Given the description of an element on the screen output the (x, y) to click on. 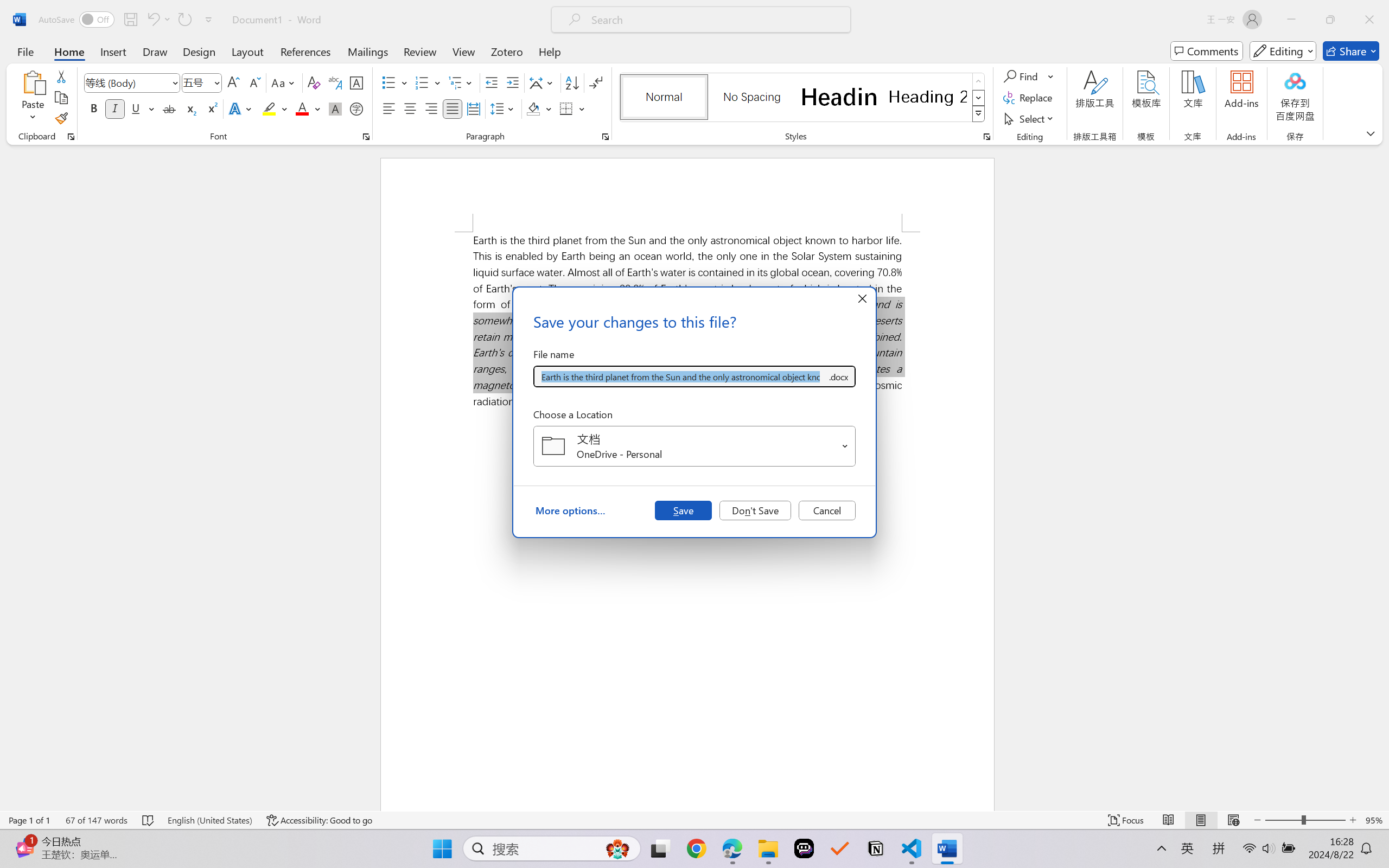
Font... (365, 136)
Clear Formatting (313, 82)
Font Color (308, 108)
Line and Paragraph Spacing (503, 108)
Phonetic Guide... (334, 82)
Multilevel List (461, 82)
Show/Hide Editing Marks (595, 82)
Page Number Page 1 of 1 (29, 819)
Superscript (210, 108)
Styles... (986, 136)
Align Left (388, 108)
